Given the description of an element on the screen output the (x, y) to click on. 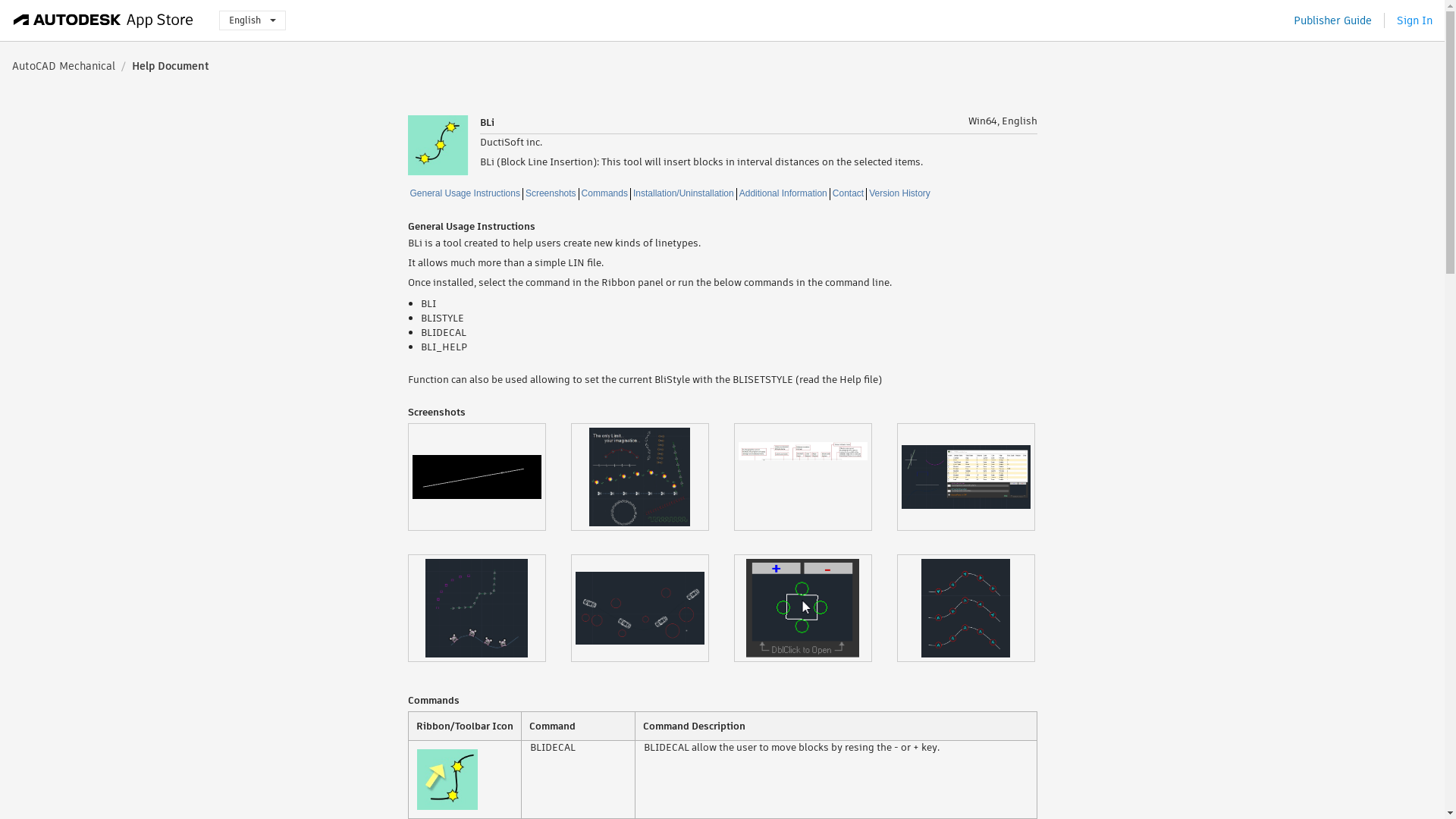
English (252, 20)
Screenshots (550, 193)
AutoCAD Mechanical (63, 65)
Autodesk App Store (103, 20)
Version History (899, 193)
Additional Information (782, 193)
General Usage Instructions (464, 193)
Sign In (1414, 20)
Commands (604, 193)
Publisher Guide (1332, 20)
